Given the description of an element on the screen output the (x, y) to click on. 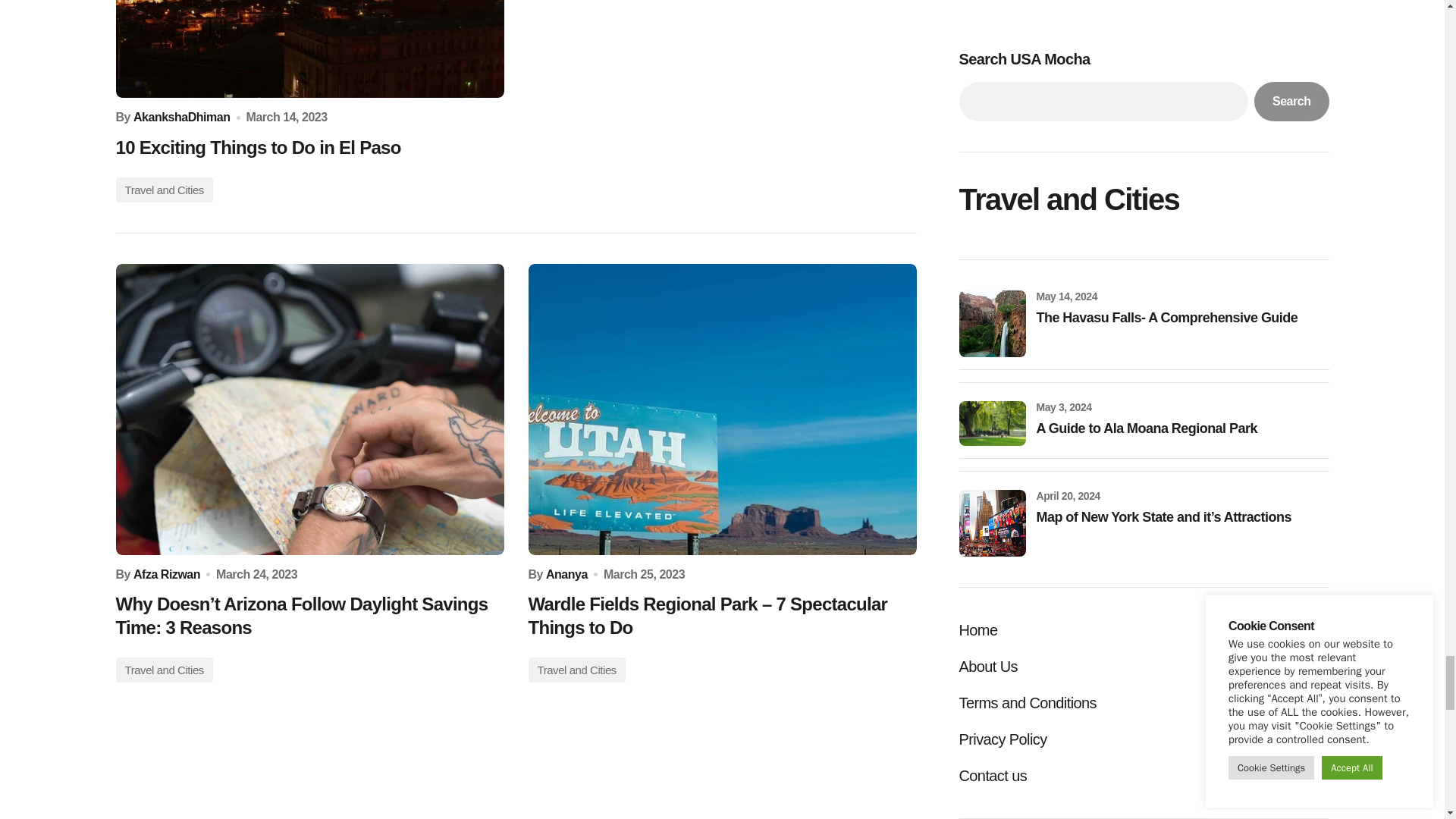
Wardle Fields Regional Park - 7 Spectacular Things to Do 10 (721, 409)
10 Exciting Things to Do in El Paso 8 (309, 48)
